Given the description of an element on the screen output the (x, y) to click on. 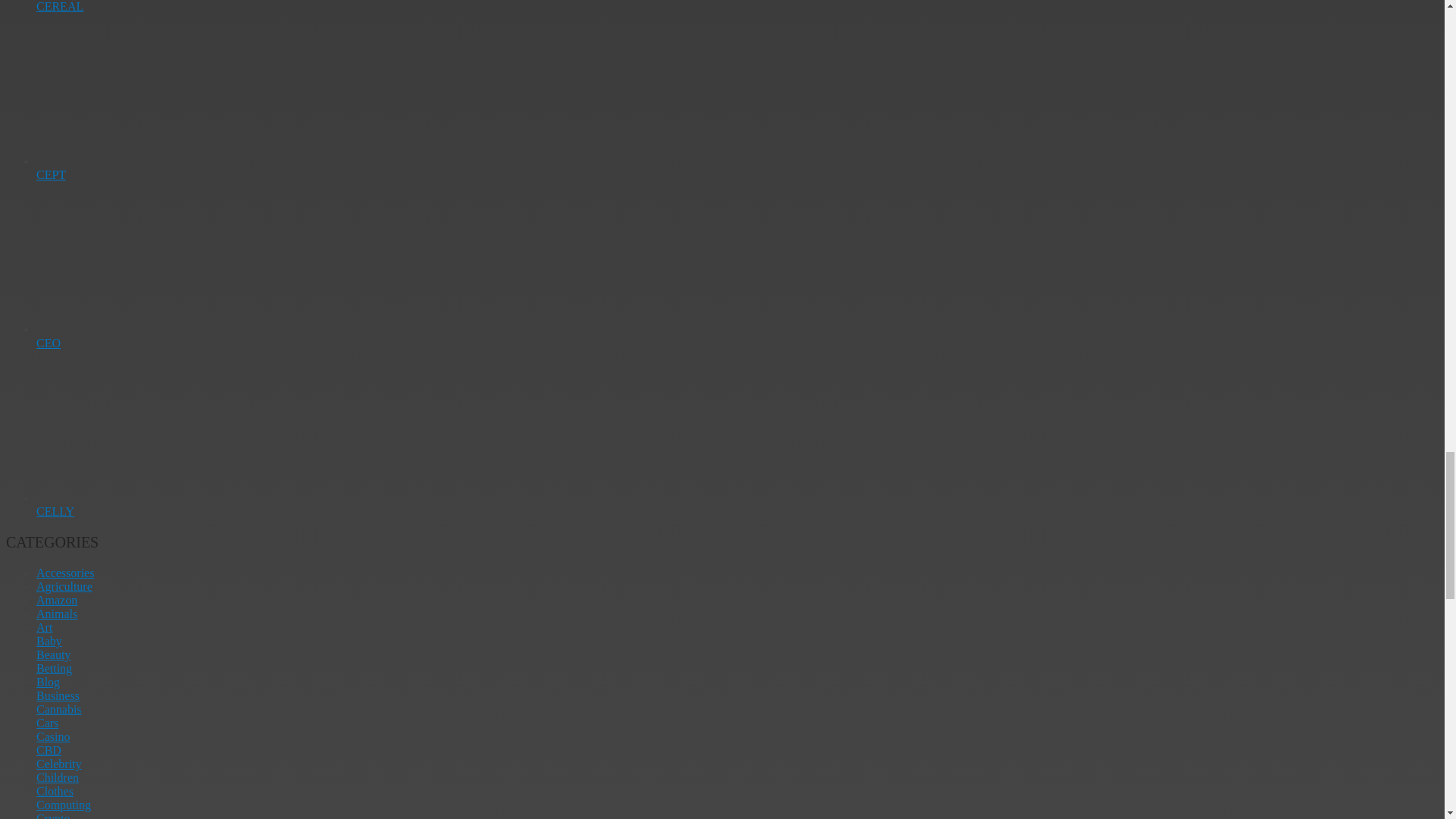
CEO (48, 342)
CEREAL (59, 6)
CEPT (50, 174)
